Given the description of an element on the screen output the (x, y) to click on. 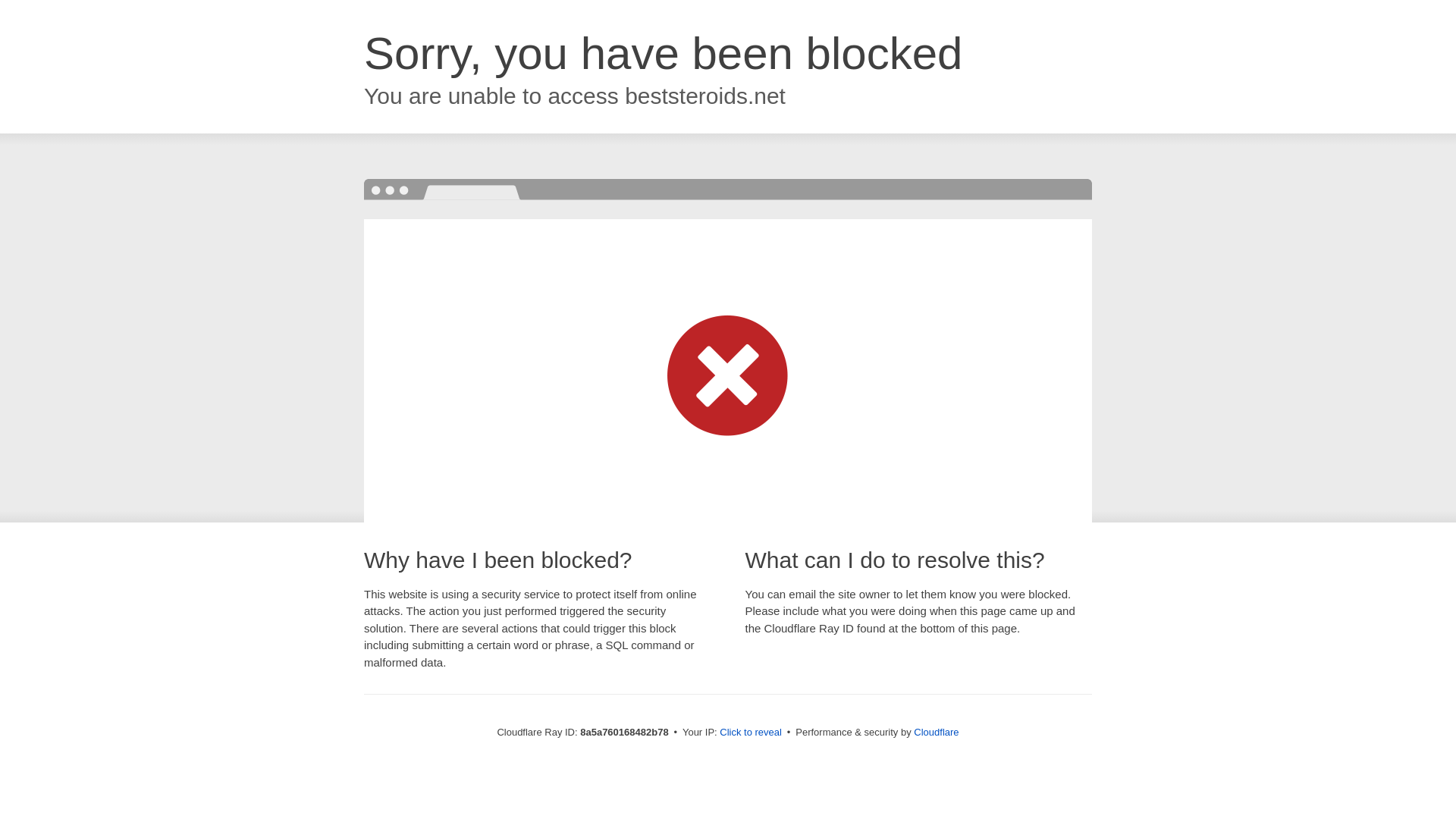
Cloudflare (936, 731)
Click to reveal (750, 732)
